Given the description of an element on the screen output the (x, y) to click on. 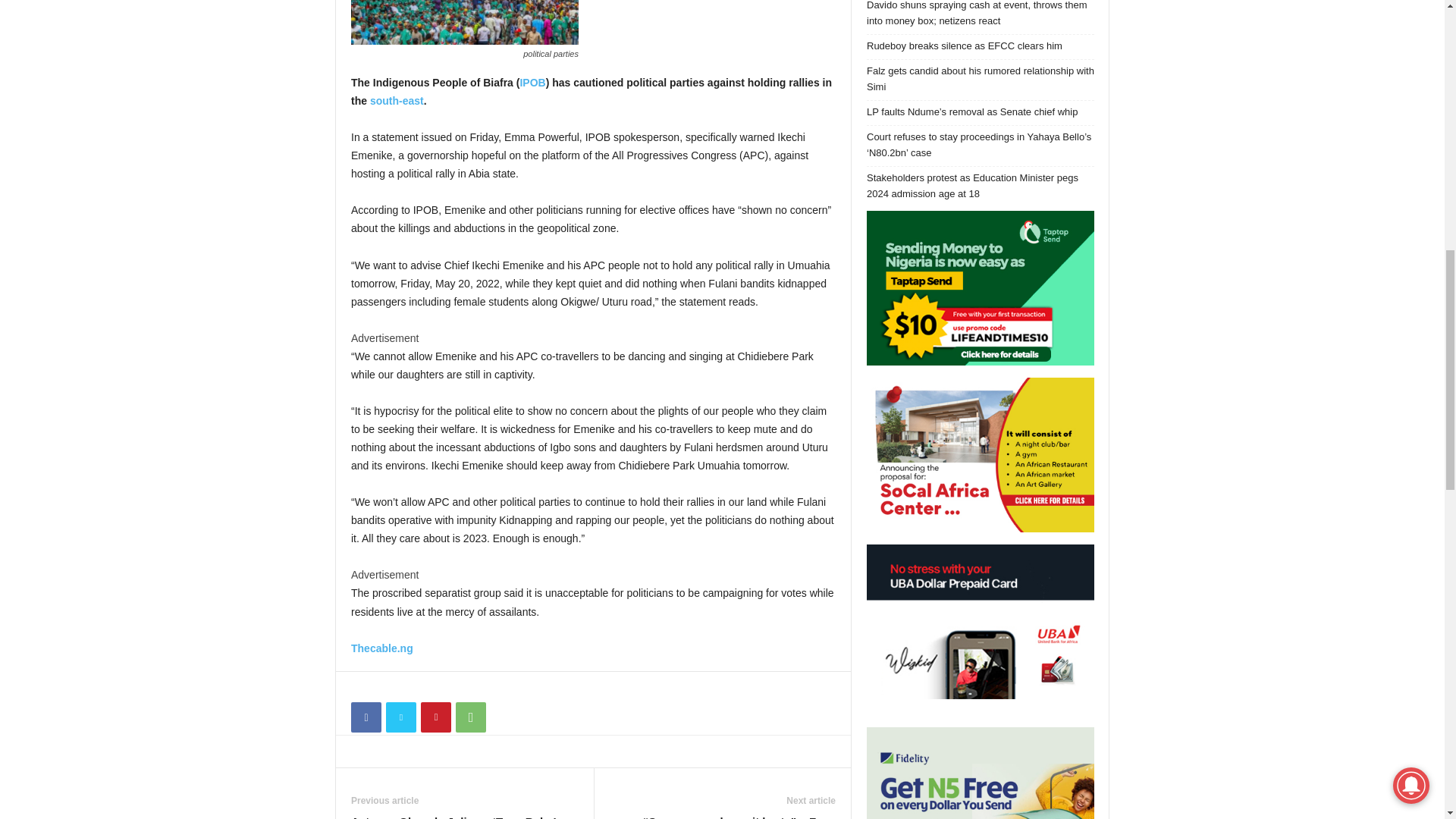
WhatsApp (470, 716)
Facebook (365, 716)
Twitter (400, 716)
Pinterest (435, 716)
